Given the description of an element on the screen output the (x, y) to click on. 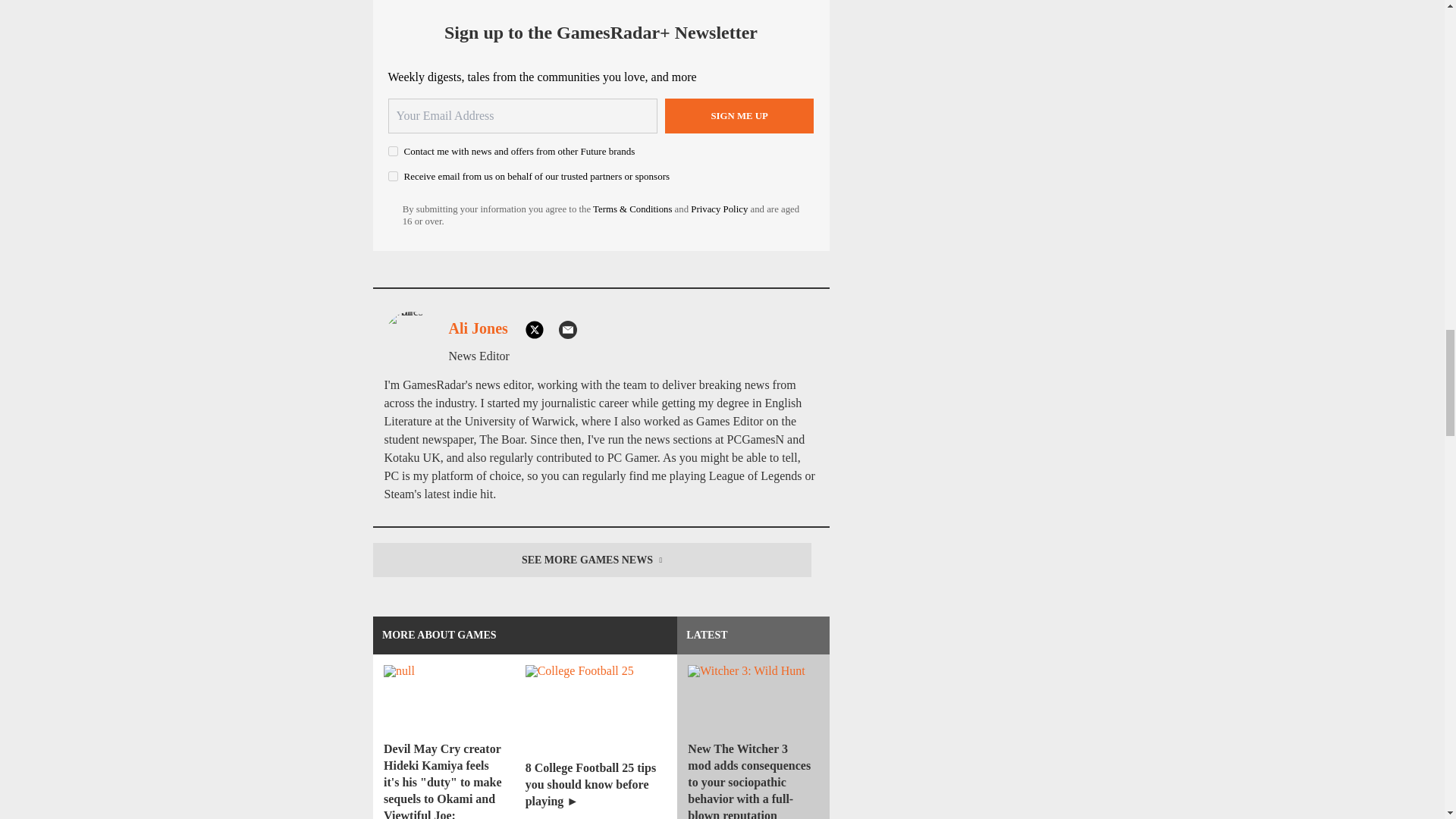
Sign me up (739, 115)
on (392, 151)
on (392, 175)
